Given the description of an element on the screen output the (x, y) to click on. 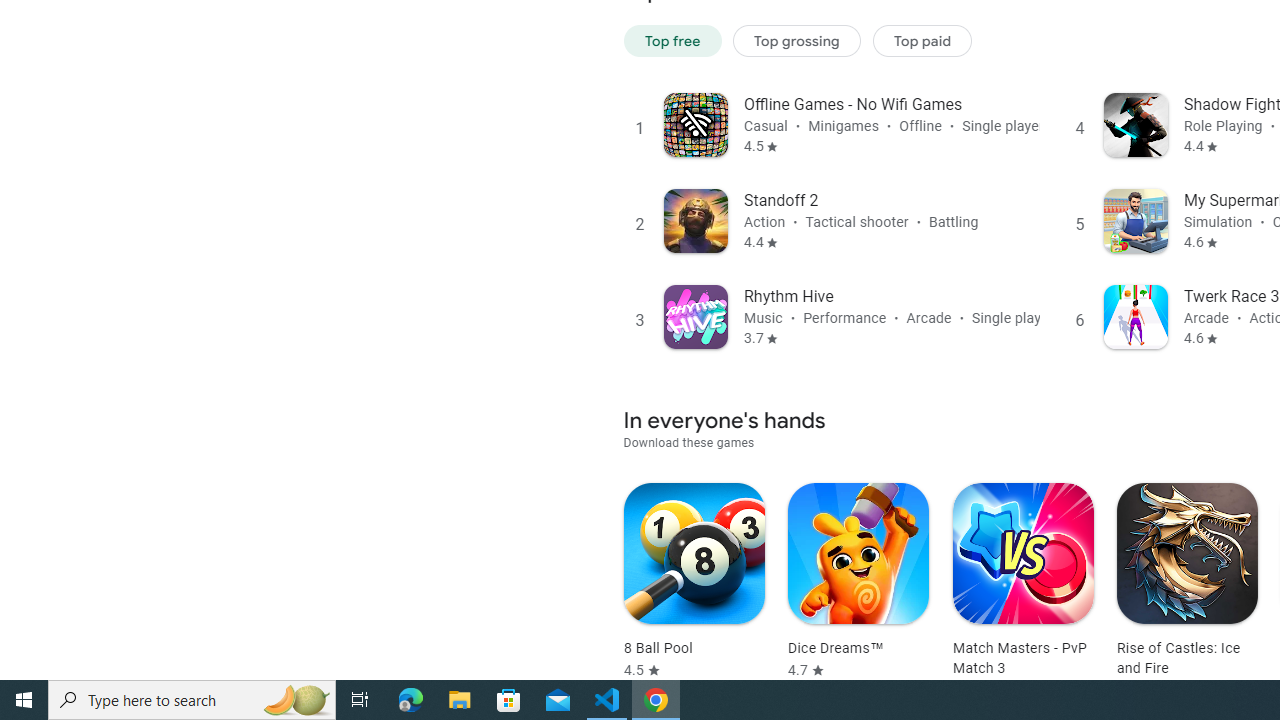
Print (104, 168)
Export (104, 223)
Transform (104, 278)
Pin to list (1223, 554)
Options (104, 605)
